Given the description of an element on the screen output the (x, y) to click on. 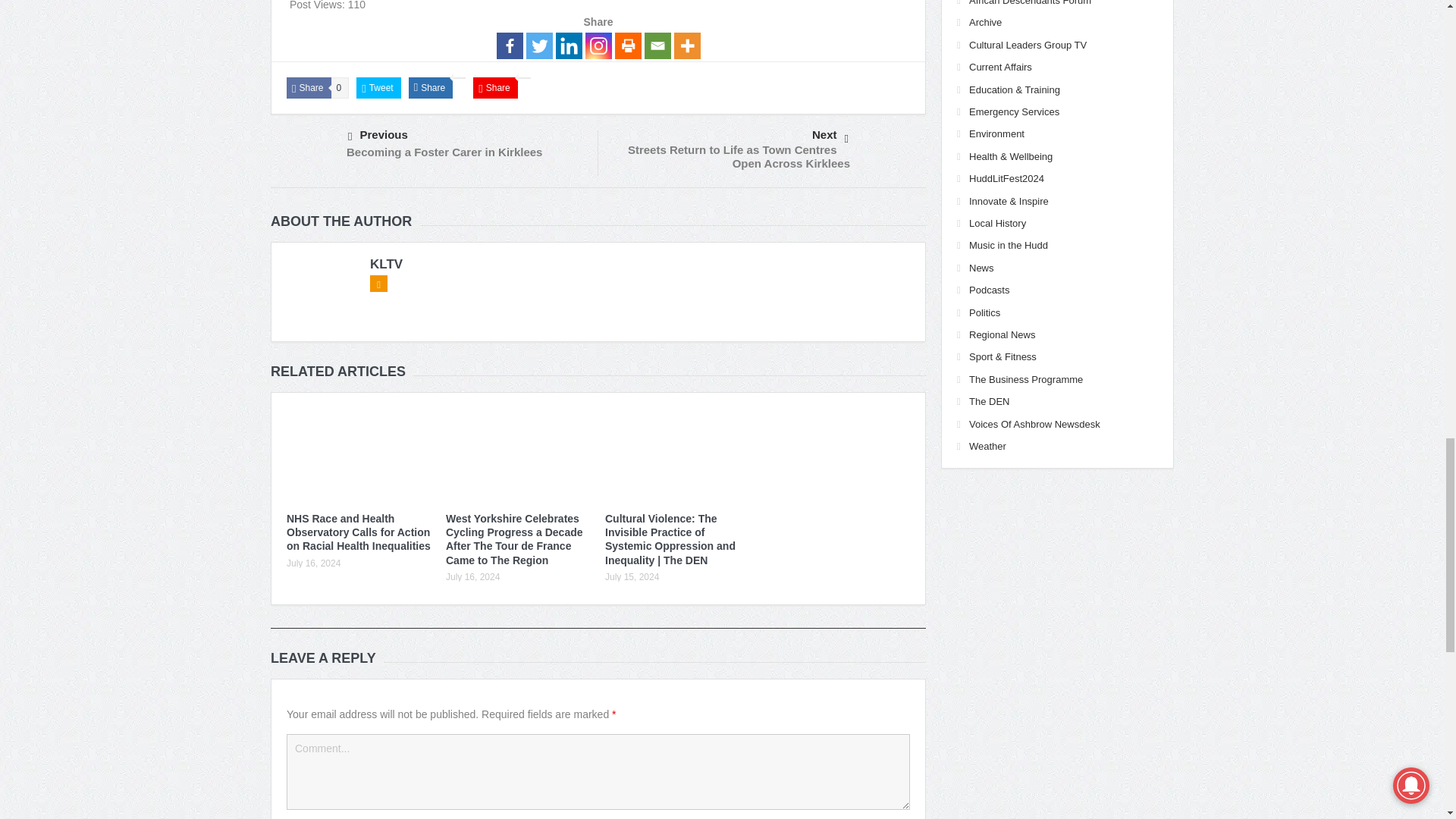
Instagram (598, 45)
Facebook (509, 45)
Email (658, 45)
More (686, 45)
Print (627, 45)
Linkedin (567, 45)
Twitter (539, 45)
